Given the description of an element on the screen output the (x, y) to click on. 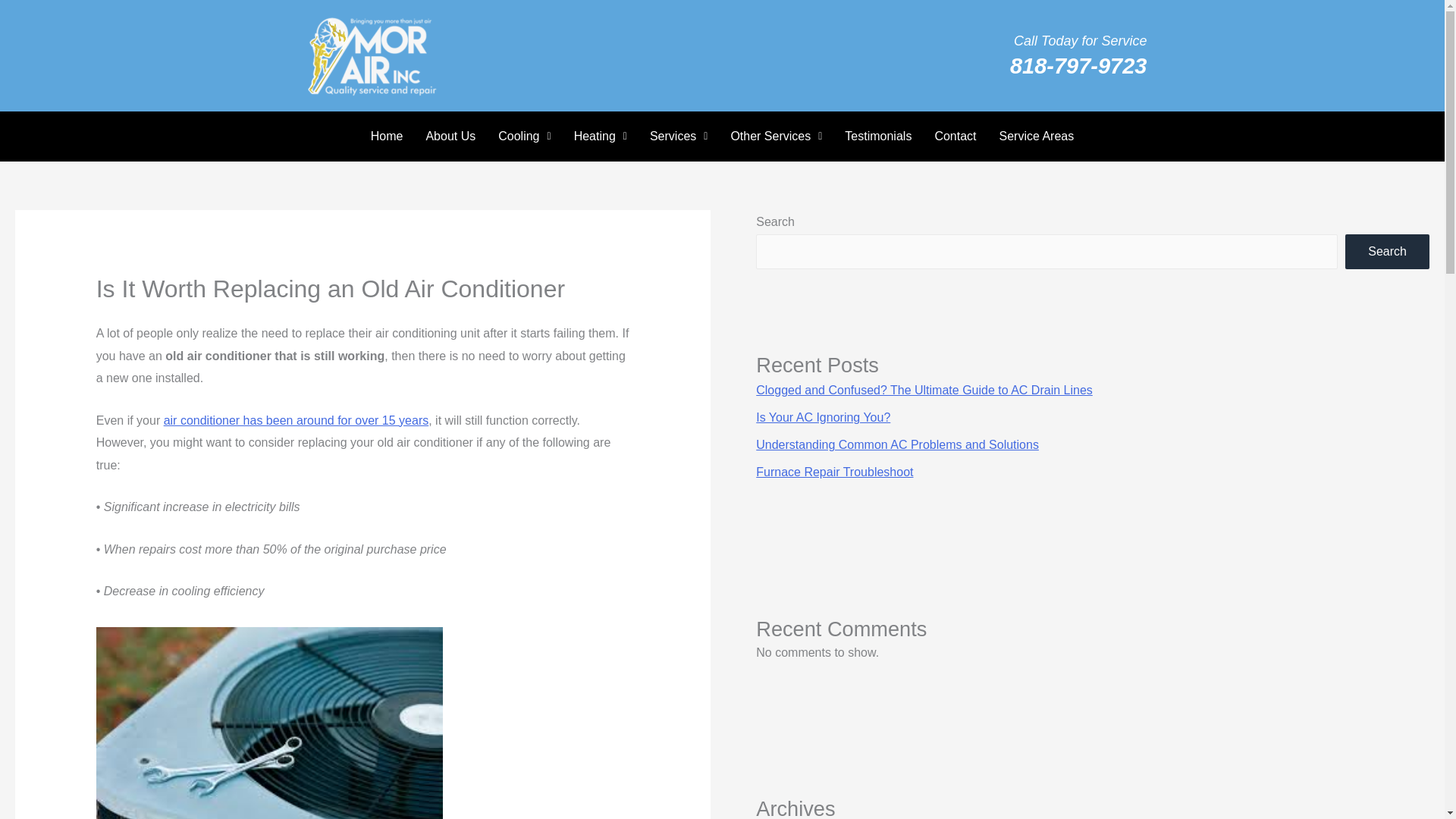
air conditioner has been around for over 15 years (296, 420)
Testimonials (877, 135)
Heating (600, 135)
Service Areas (1037, 135)
Search (1387, 251)
Other Services (775, 135)
Contact (955, 135)
Cooling (524, 135)
Understanding Common AC Problems and Solutions (897, 444)
Is Your AC Ignoring You? (822, 417)
Home (386, 135)
818-797-9723 (1078, 65)
Services (679, 135)
Furnace Repair Troubleshoot (833, 472)
Clogged and Confused? The Ultimate Guide to AC Drain Lines (924, 390)
